Given the description of an element on the screen output the (x, y) to click on. 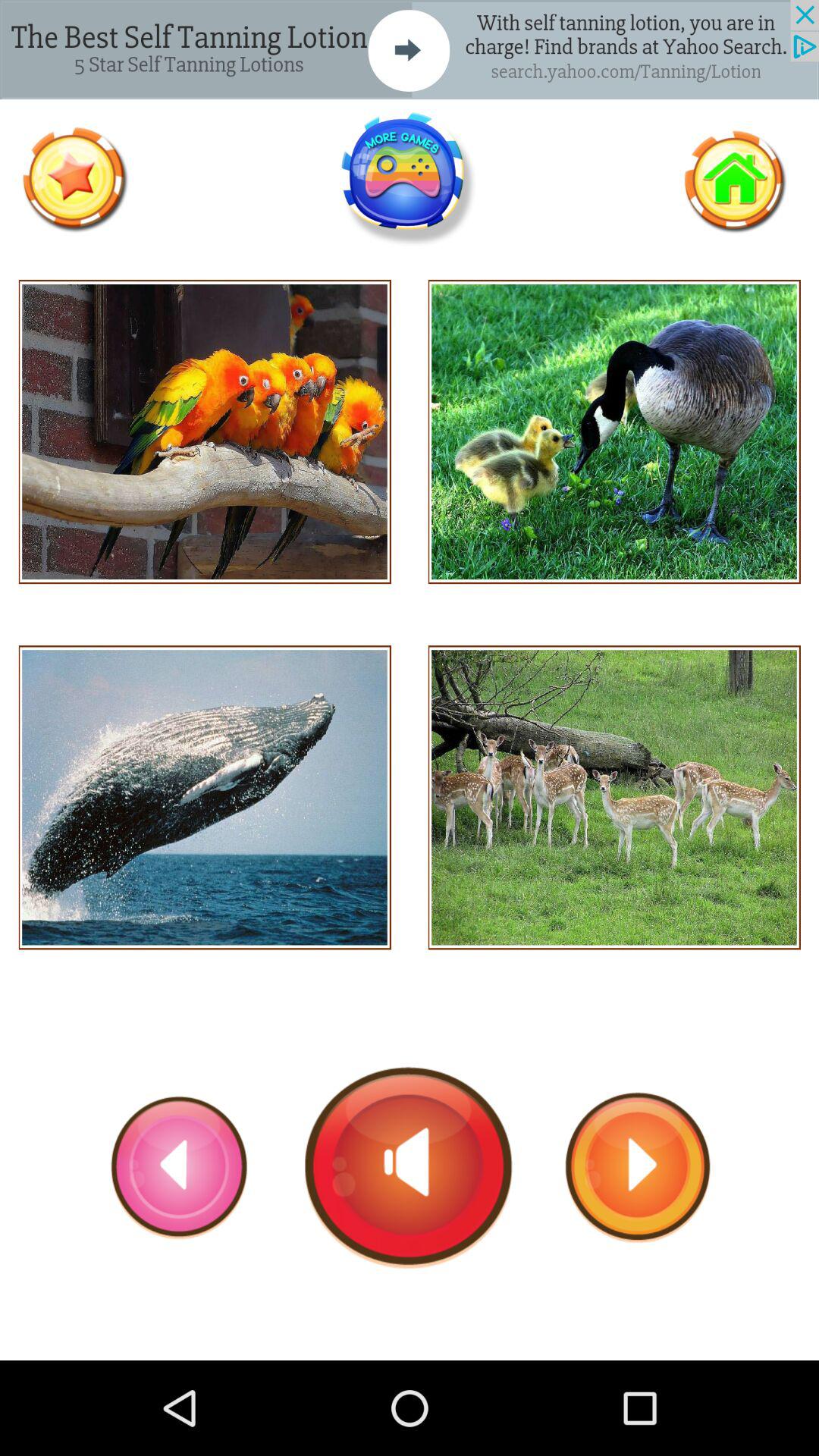
choose photo (614, 797)
